Given the description of an element on the screen output the (x, y) to click on. 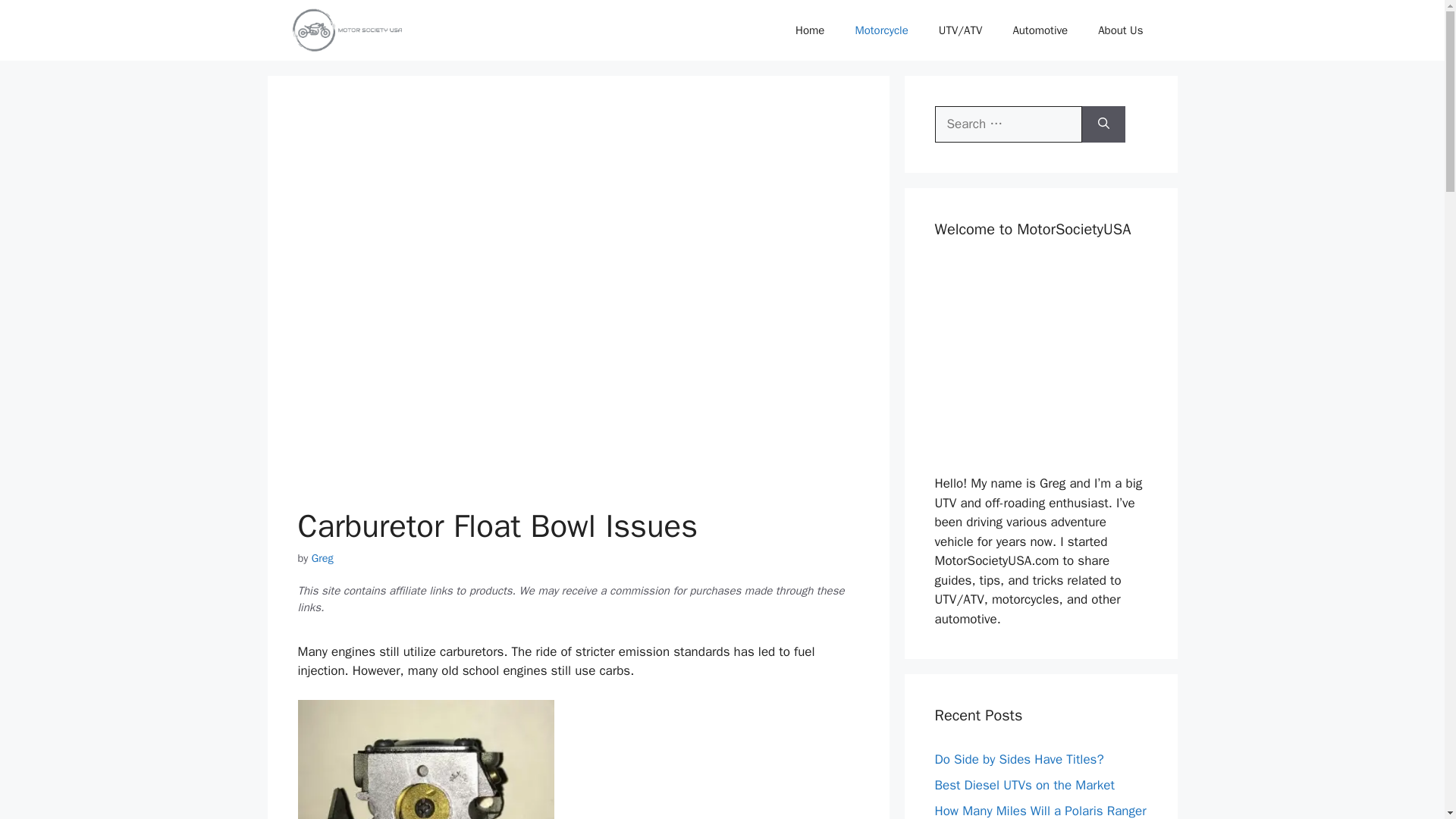
Search for: (1007, 124)
Best Diesel UTVs on the Market (1023, 785)
Automotive (1040, 30)
How Many Miles Will a Polaris Ranger Last? (1039, 811)
Home (810, 30)
View all posts by Greg (322, 558)
Do Side by Sides Have Titles? (1018, 759)
About Us (1120, 30)
Motorcycle (881, 30)
Greg (322, 558)
